Given the description of an element on the screen output the (x, y) to click on. 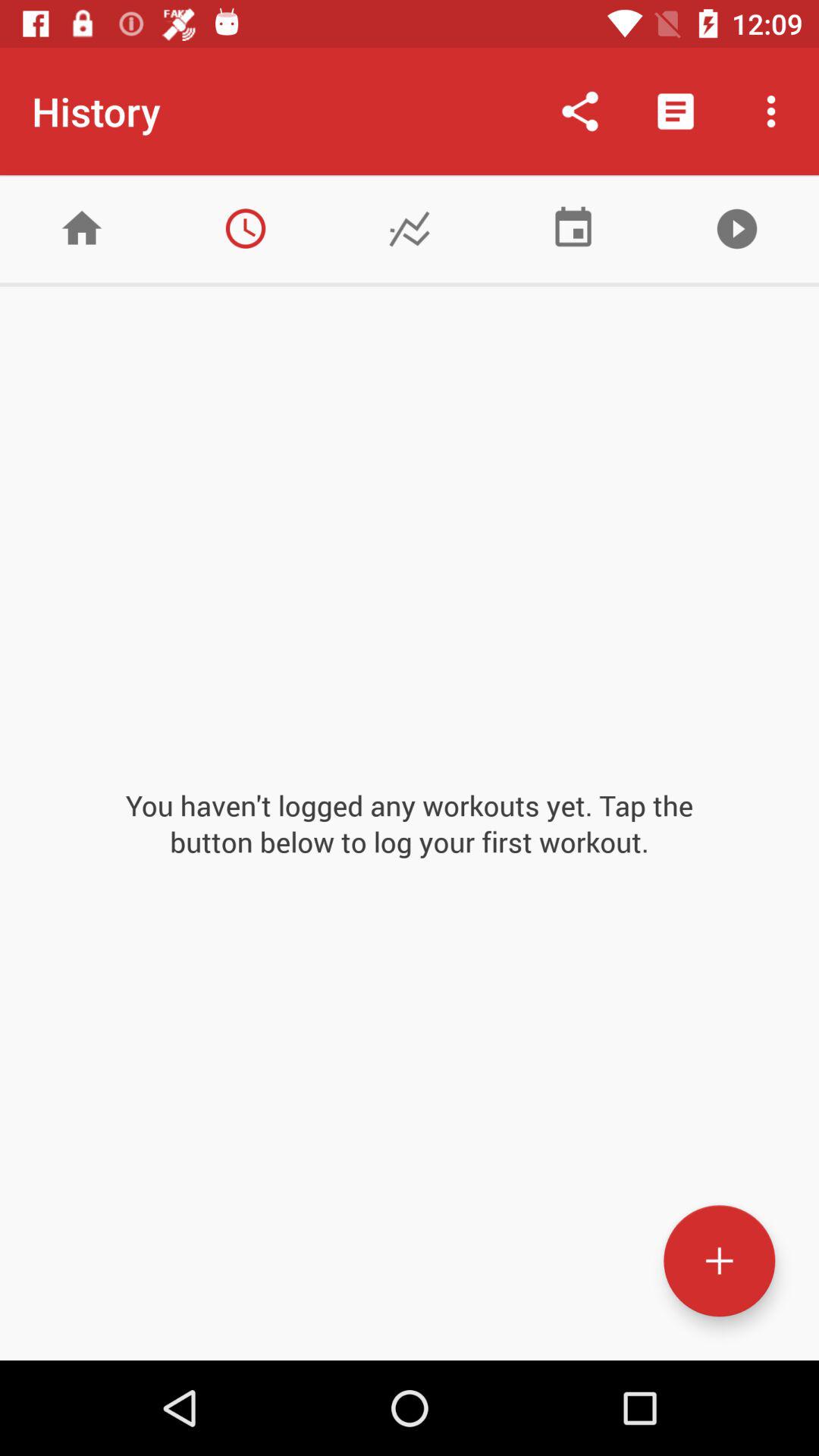
add workout (719, 1260)
